Given the description of an element on the screen output the (x, y) to click on. 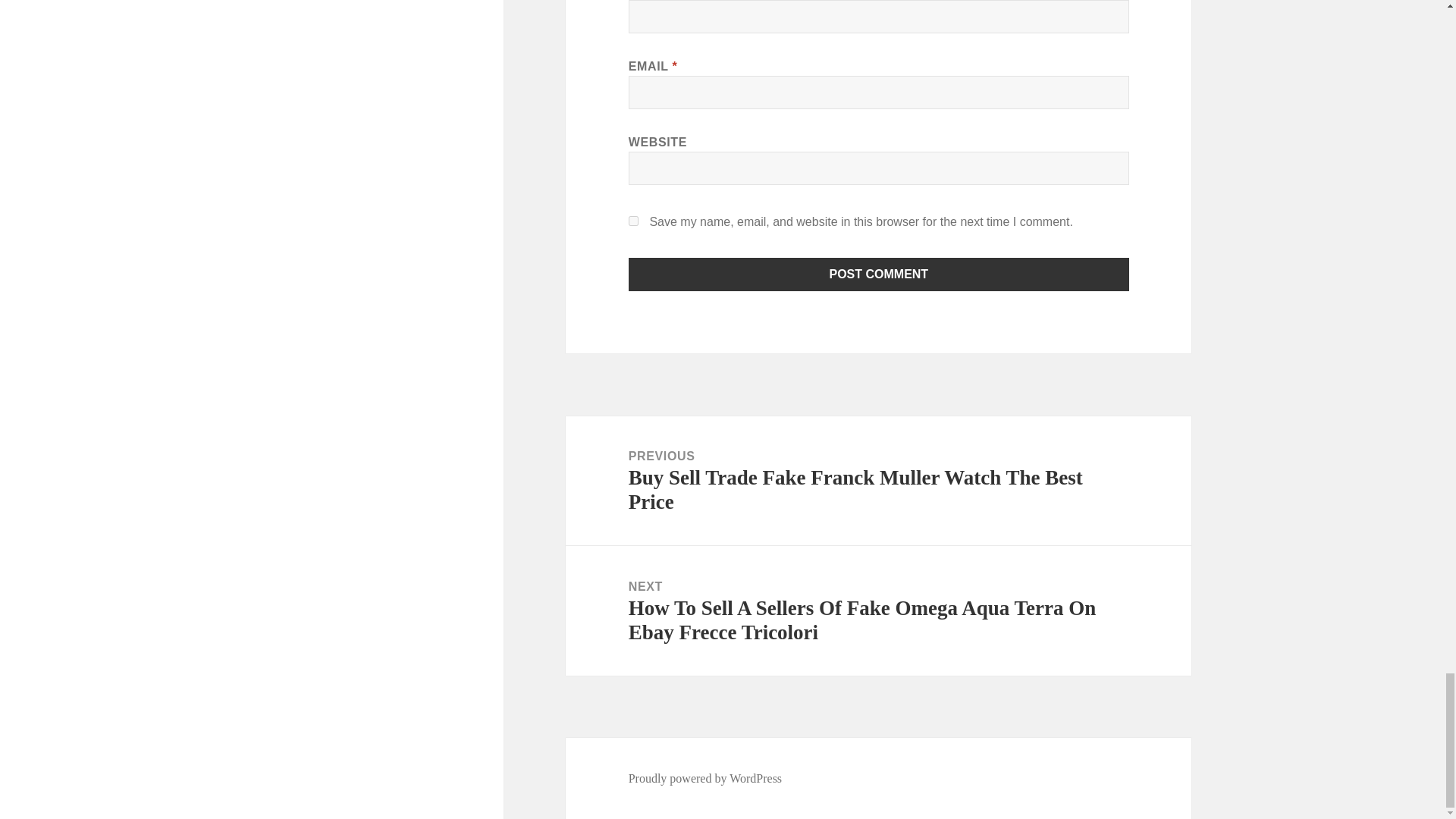
yes (633, 221)
Post Comment (878, 274)
